Given the description of an element on the screen output the (x, y) to click on. 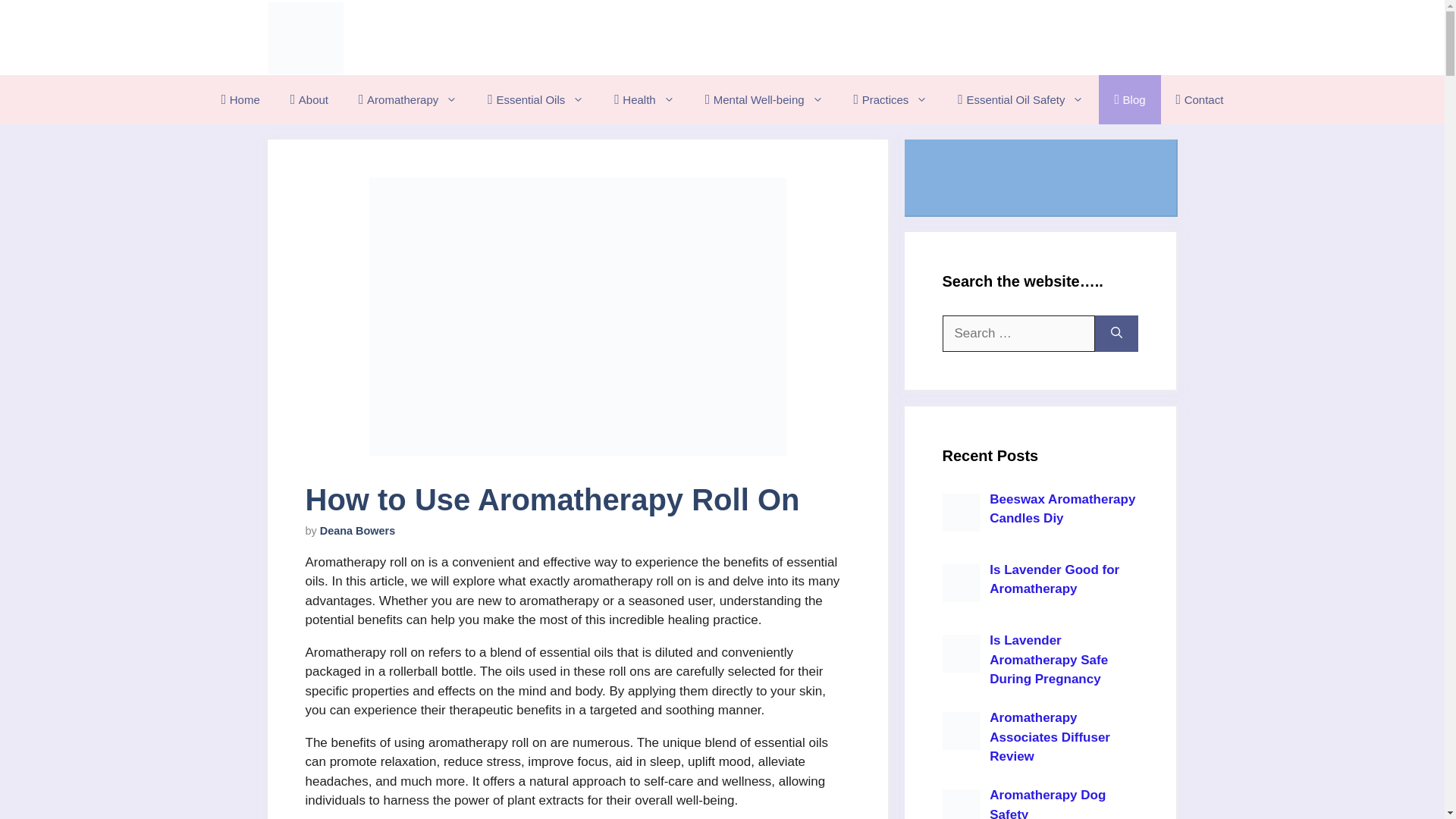
View all posts by Deana Bowers (358, 530)
How to Use Aromatherapy Roll On 1 (577, 316)
